Given the description of an element on the screen output the (x, y) to click on. 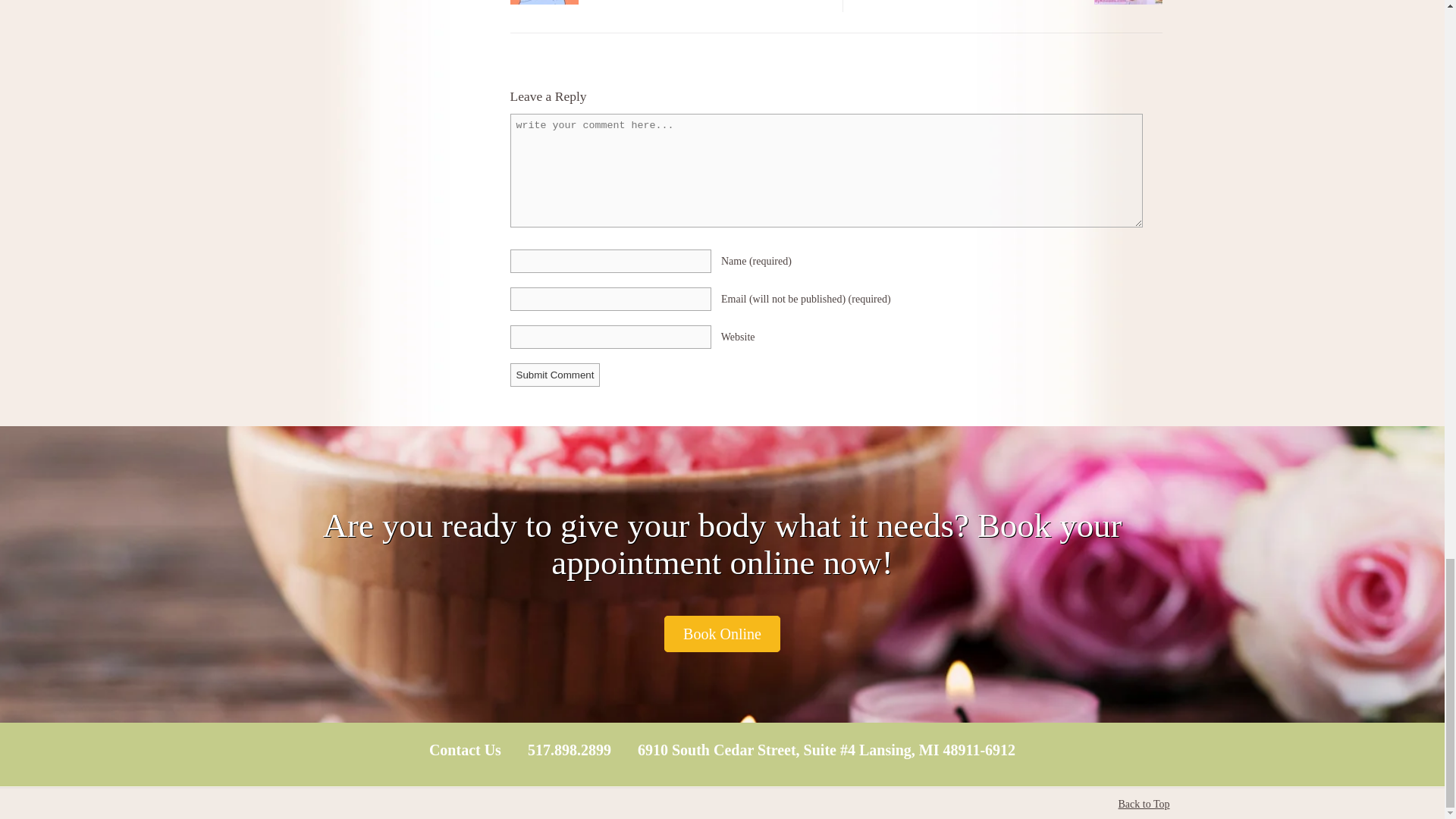
Submit Comment (554, 374)
Submit Comment (554, 374)
Avoid Surgery: Massage Can Help with Back Pain (543, 3)
Can you get massage during chemotherapy? (1127, 3)
